Given the description of an element on the screen output the (x, y) to click on. 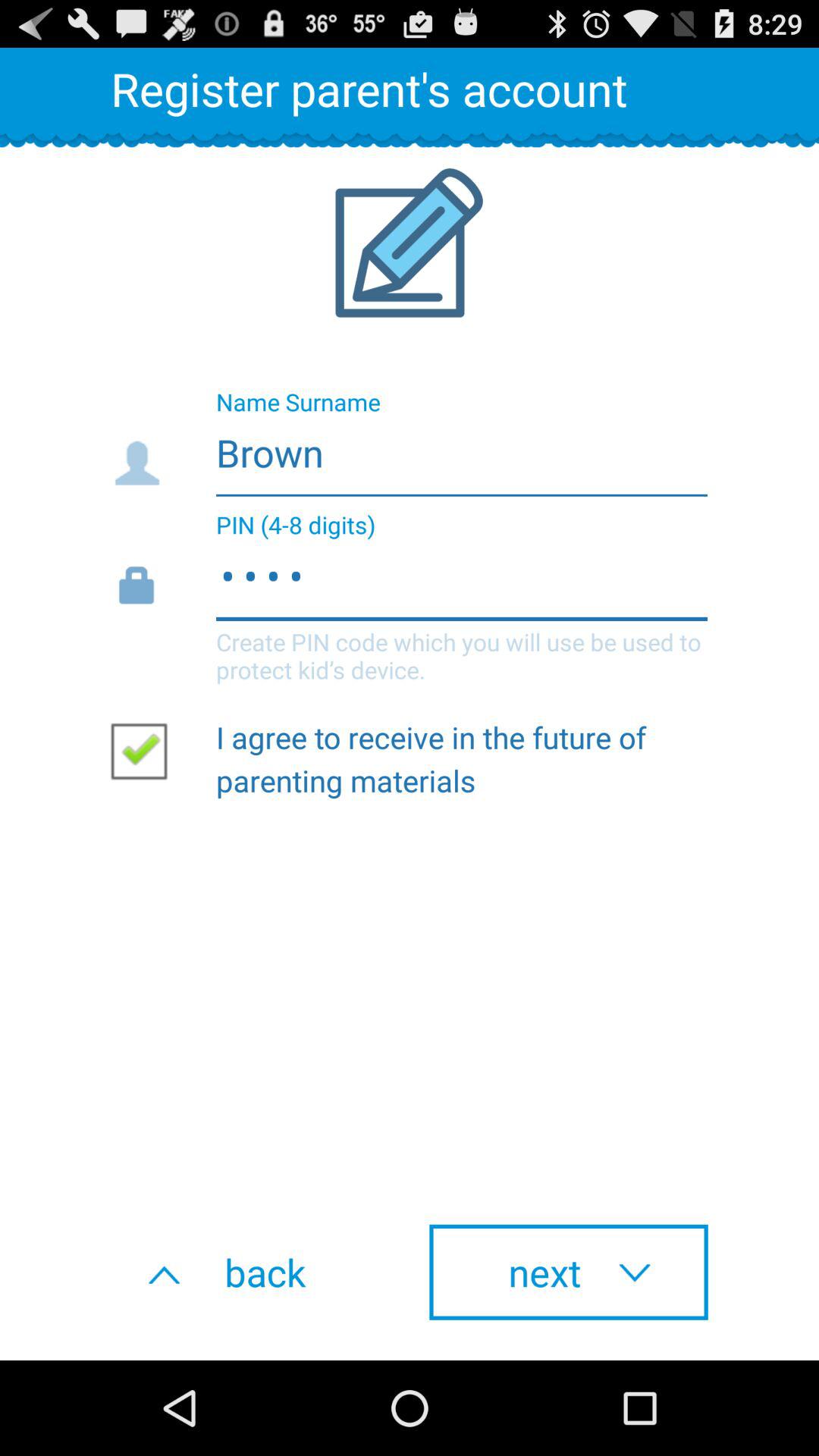
click the item on the left (145, 750)
